Given the description of an element on the screen output the (x, y) to click on. 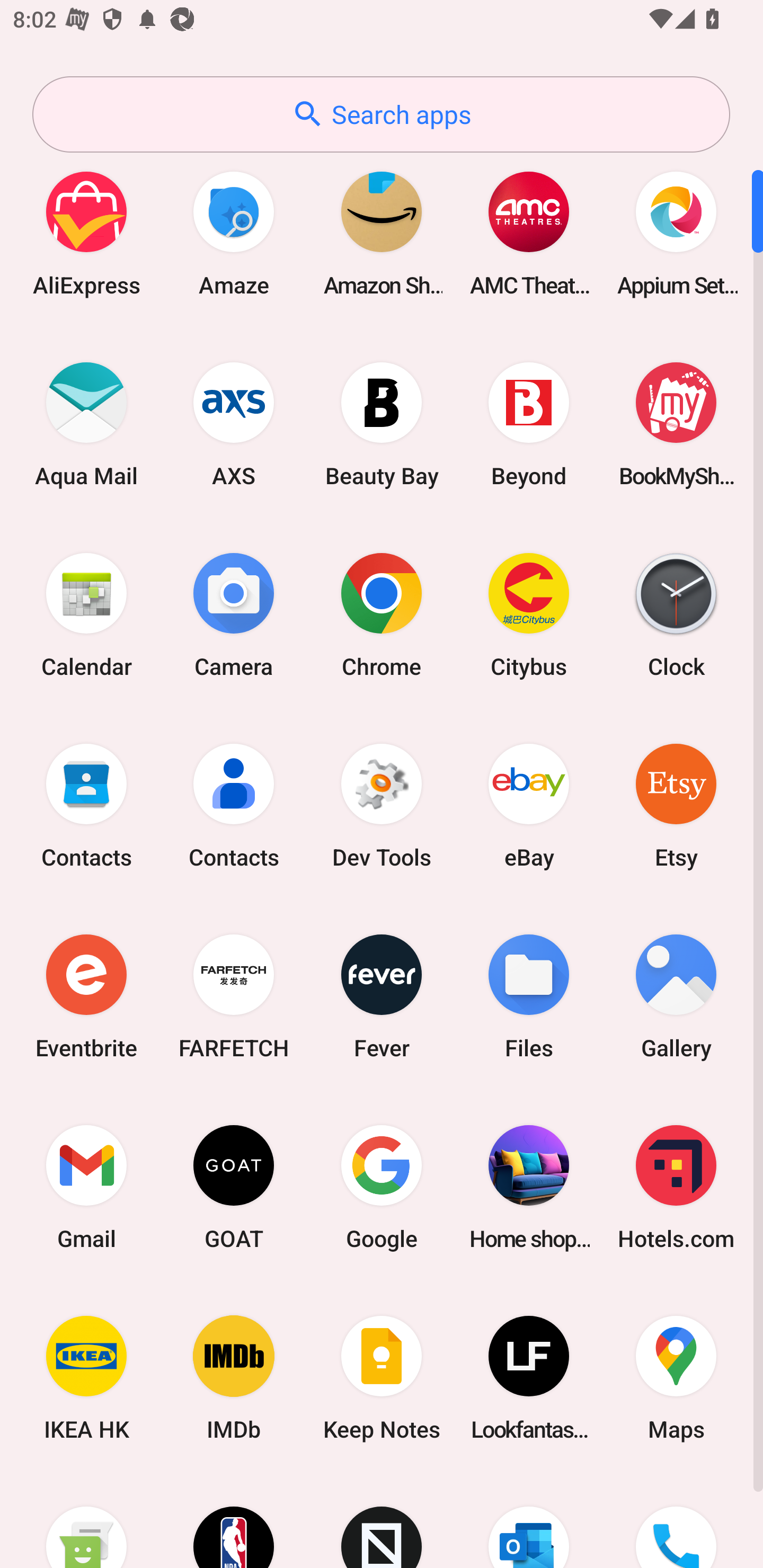
  Search apps (381, 114)
AliExpress (86, 233)
Amaze (233, 233)
Amazon Shopping (381, 233)
AMC Theatres (528, 233)
Appium Settings (676, 233)
Aqua Mail (86, 424)
AXS (233, 424)
Beauty Bay (381, 424)
Beyond (528, 424)
BookMyShow (676, 424)
Calendar (86, 614)
Camera (233, 614)
Chrome (381, 614)
Citybus (528, 614)
Clock (676, 614)
Contacts (86, 805)
Contacts (233, 805)
Dev Tools (381, 805)
eBay (528, 805)
Etsy (676, 805)
Eventbrite (86, 996)
FARFETCH (233, 996)
Fever (381, 996)
Files (528, 996)
Gallery (676, 996)
Gmail (86, 1186)
GOAT (233, 1186)
Google (381, 1186)
Home shopping (528, 1186)
Hotels.com (676, 1186)
IKEA HK (86, 1377)
IMDb (233, 1377)
Keep Notes (381, 1377)
Lookfantastic (528, 1377)
Maps (676, 1377)
